Given the description of an element on the screen output the (x, y) to click on. 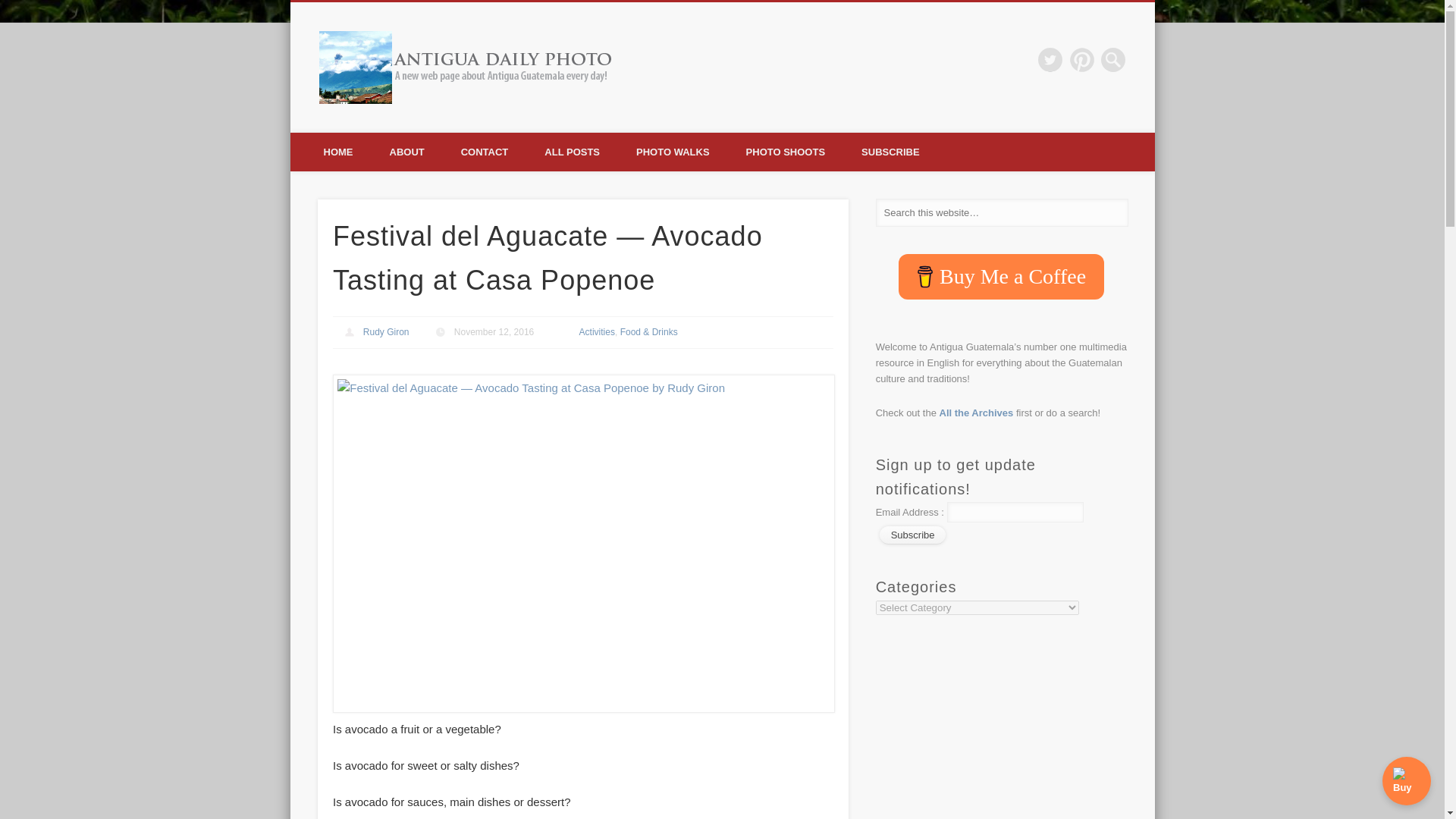
CONTACT (484, 151)
PHOTO WALKS (672, 151)
Pinterest (1082, 59)
PHOTO SHOOTS (786, 151)
ABOUT (406, 151)
Posts by Rudy Giron (385, 331)
Subscribe (912, 535)
Rudy Giron (385, 331)
Twitter (1050, 59)
SUBSCRIBE (890, 151)
